Given the description of an element on the screen output the (x, y) to click on. 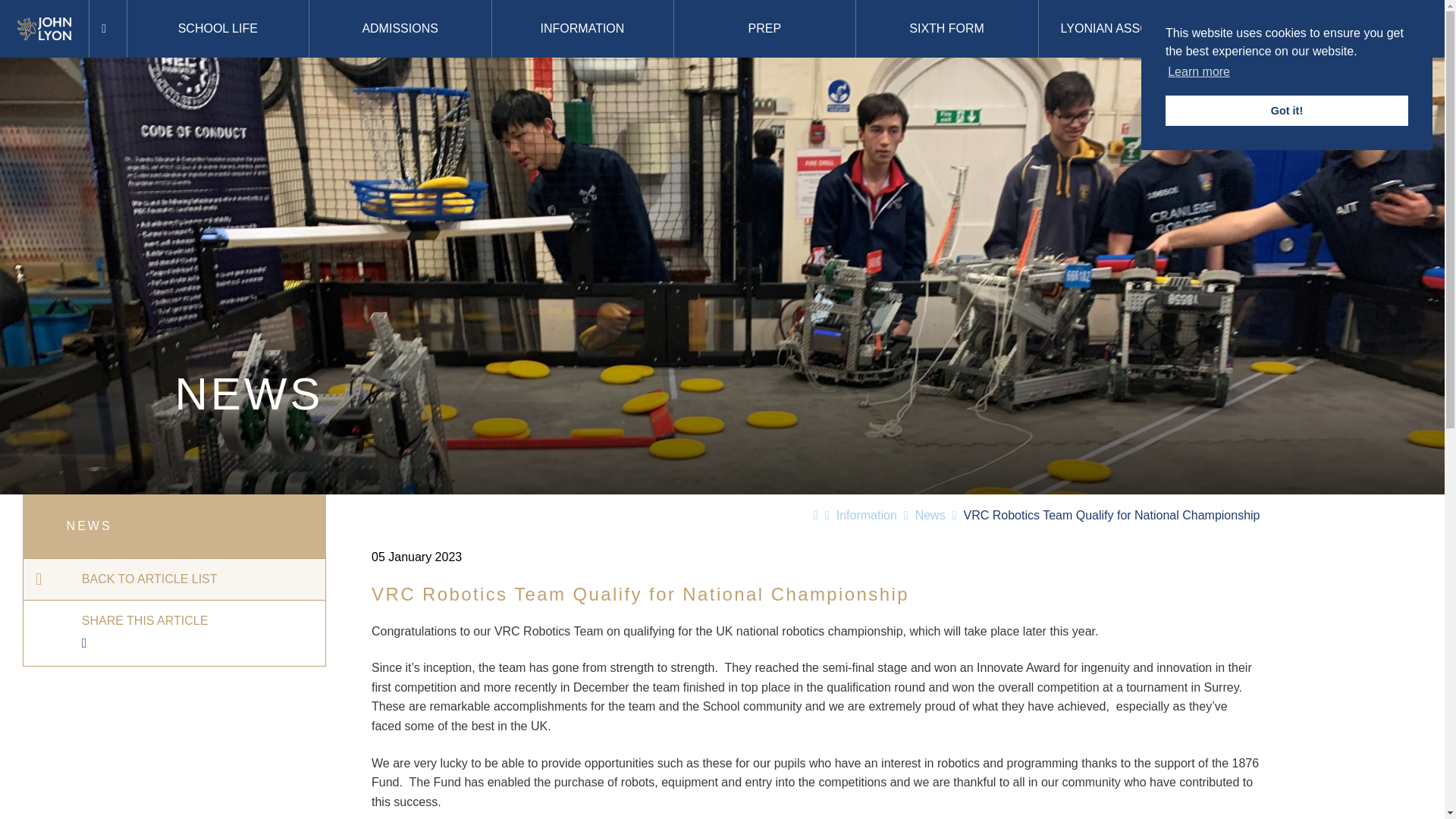
SCHOOL LIFE (217, 28)
Learn more (1198, 71)
PREP (764, 28)
ADMISSIONS (399, 28)
Got it! (1286, 110)
INFORMATION (582, 28)
